Given the description of an element on the screen output the (x, y) to click on. 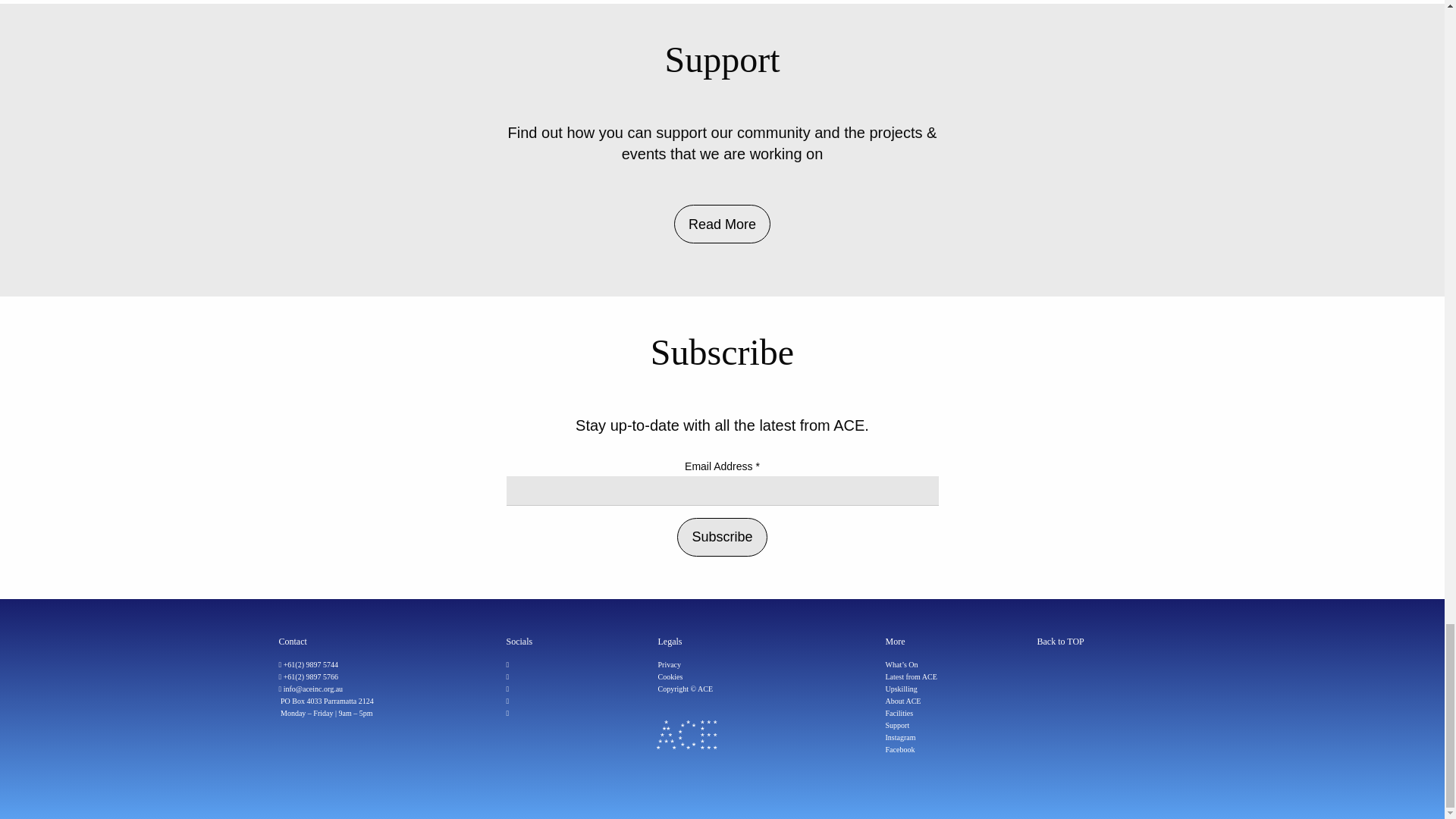
Cookies (670, 676)
Subscribe (722, 536)
Upskilling (901, 688)
Latest from ACE (911, 676)
Subscribe (722, 536)
Privacy (669, 664)
Read More (722, 232)
